Given the description of an element on the screen output the (x, y) to click on. 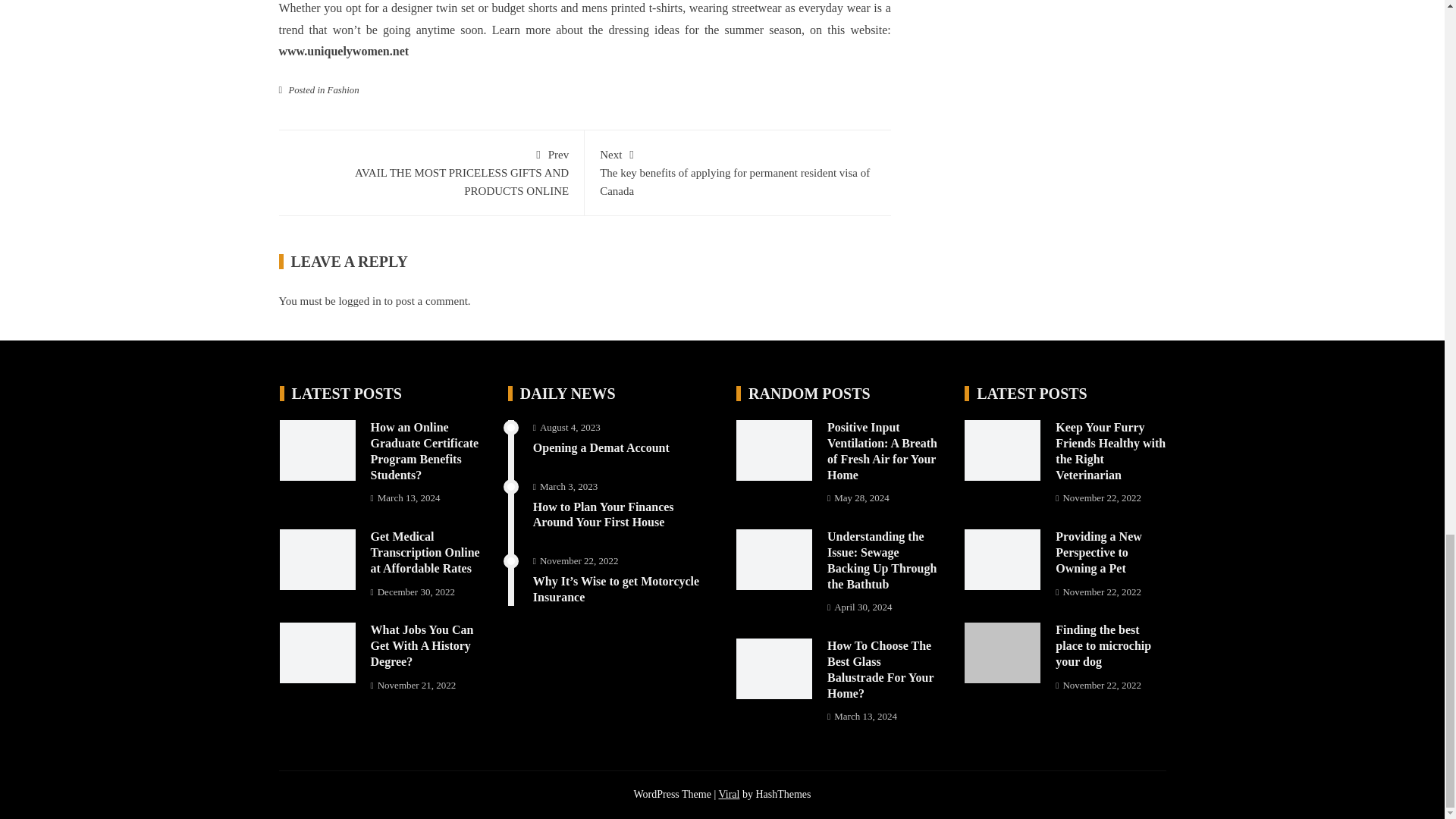
Fashion (343, 90)
Download Viral (728, 794)
www.uniquelywomen.net (344, 51)
mens printed t-shirts (631, 7)
logged in (358, 300)
